Given the description of an element on the screen output the (x, y) to click on. 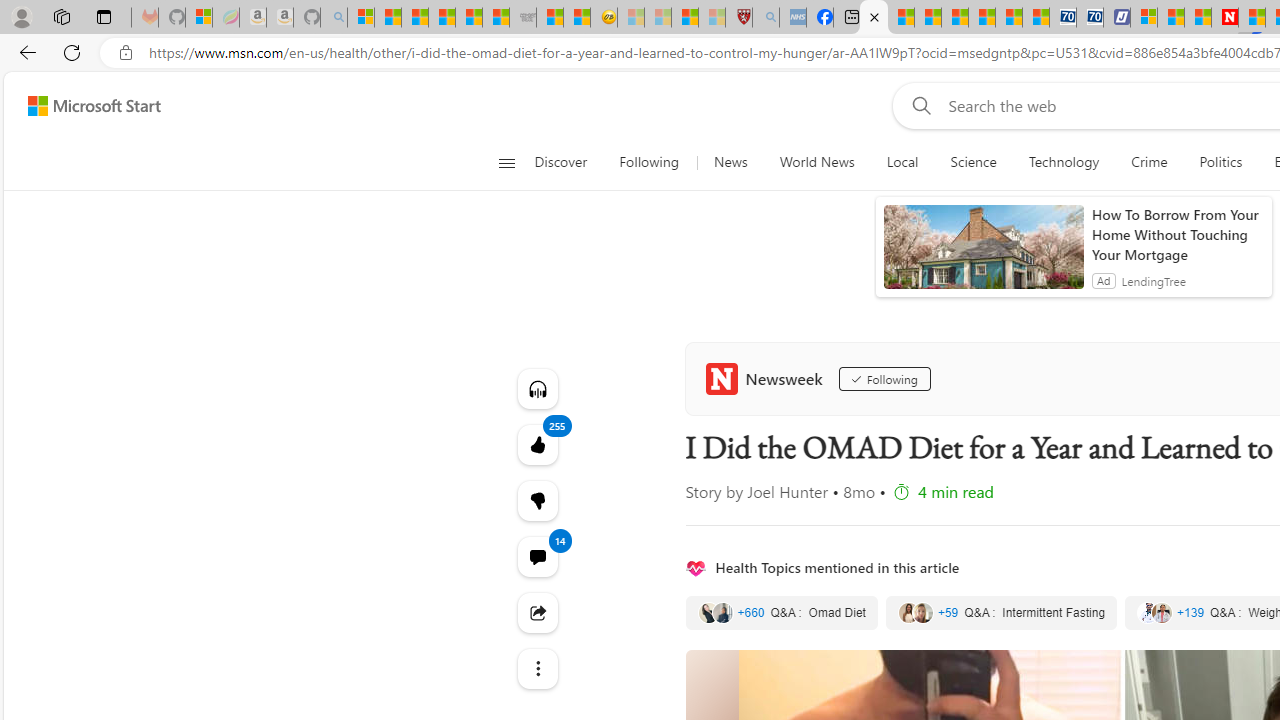
Omad diet (781, 613)
255 Like (537, 444)
View comments 14 Comment (537, 556)
Class: at-item (537, 668)
